Given the description of an element on the screen output the (x, y) to click on. 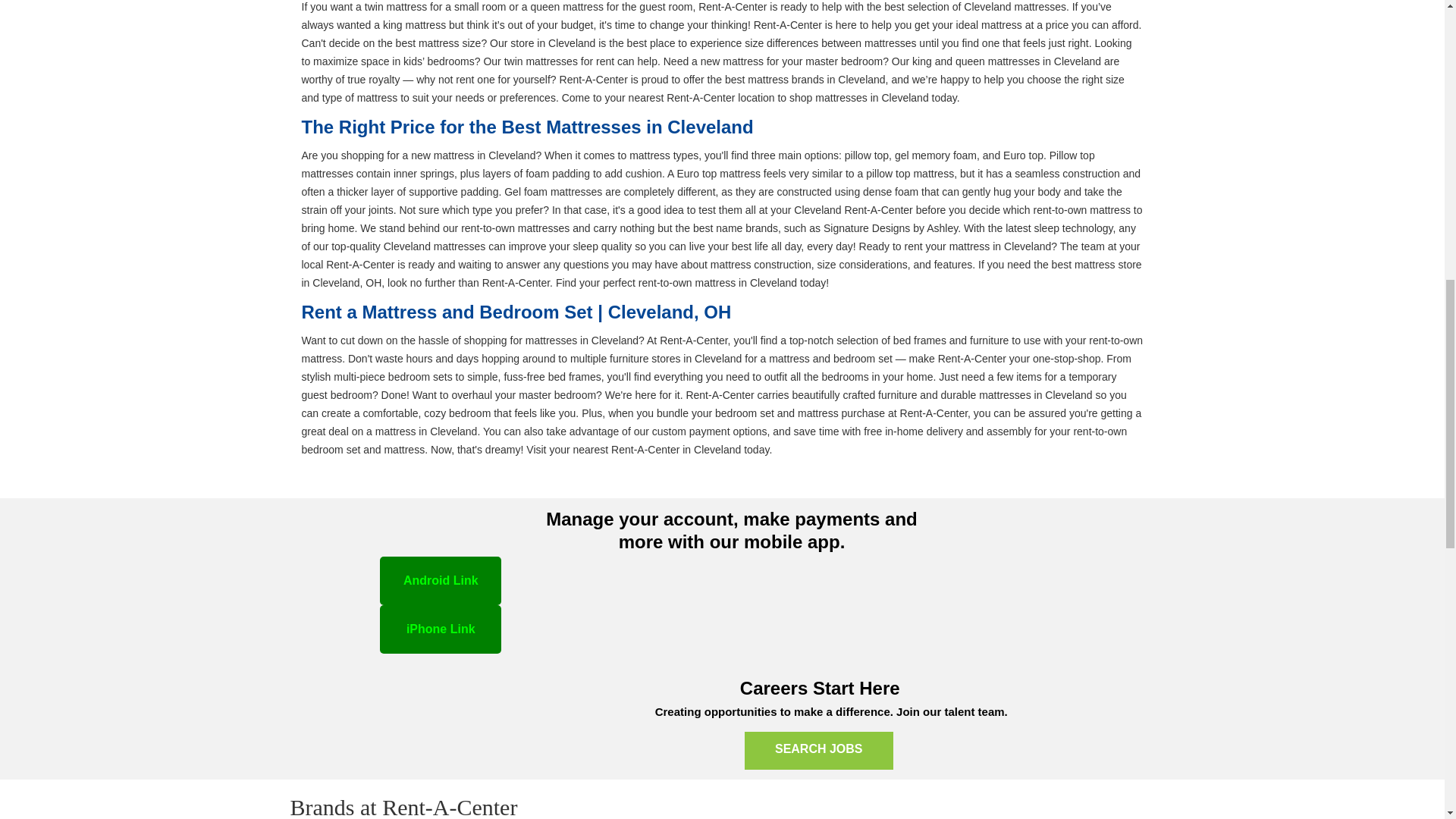
SEARCH JOBS (818, 750)
Android Link (440, 580)
iPhone Link (440, 629)
